Given the description of an element on the screen output the (x, y) to click on. 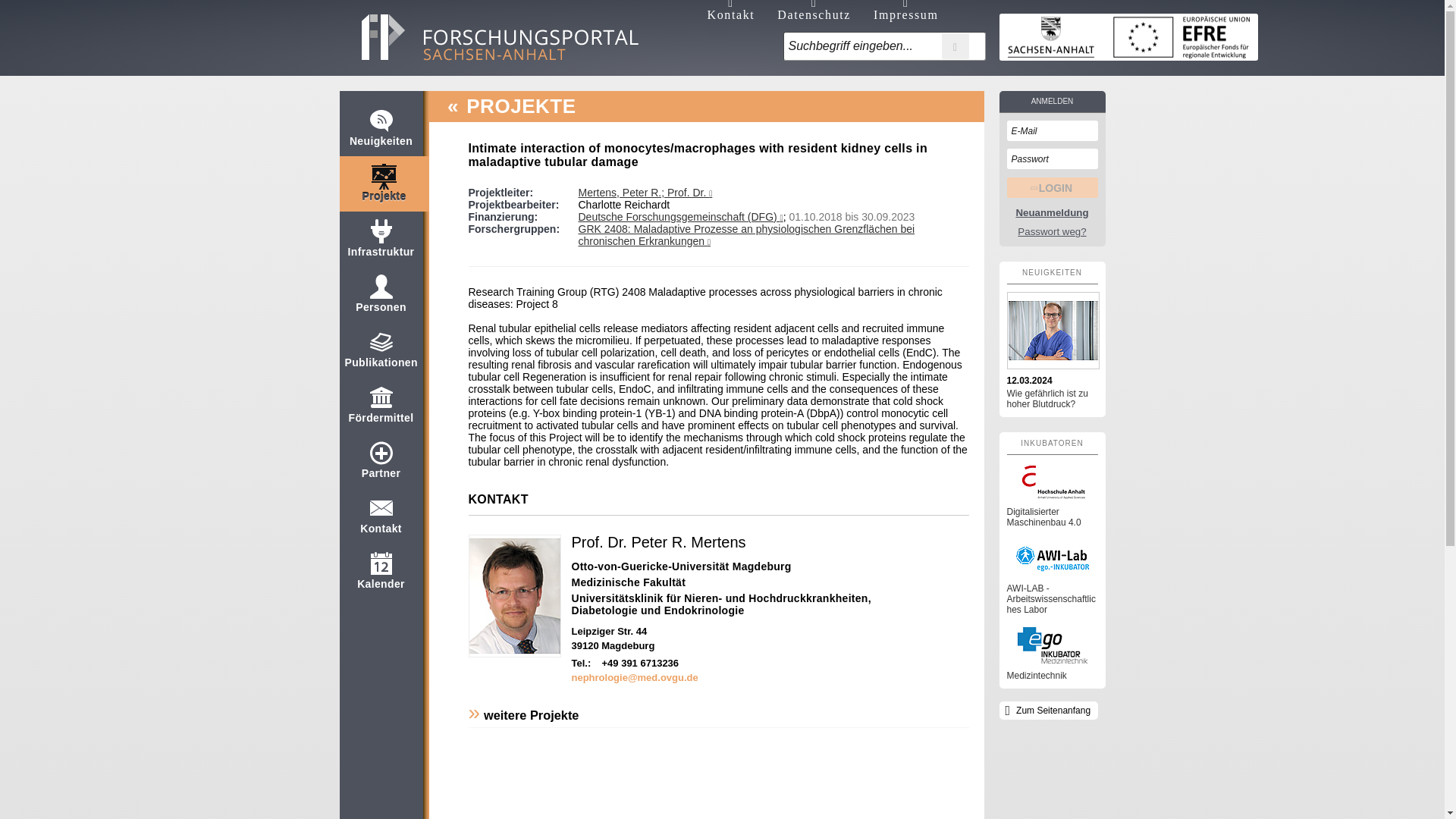
Impressum (906, 10)
Kontakt (381, 522)
Hier investiert Europa in die Zukunft unseres Landes (1127, 36)
Infrastruktur (381, 245)
Passwort weg? (1052, 232)
Projekte (384, 190)
Neuigkeiten (381, 134)
Neuanmeldung (1052, 213)
Kalender (381, 577)
Publikationen (379, 355)
Kontakt (731, 10)
AWI-LAB - Arbeitswissenschaftliches Labor (1052, 576)
Projekte (384, 190)
Neuigkeiten (381, 134)
Prof. Dr. Peter R. Mertens (658, 541)
